Given the description of an element on the screen output the (x, y) to click on. 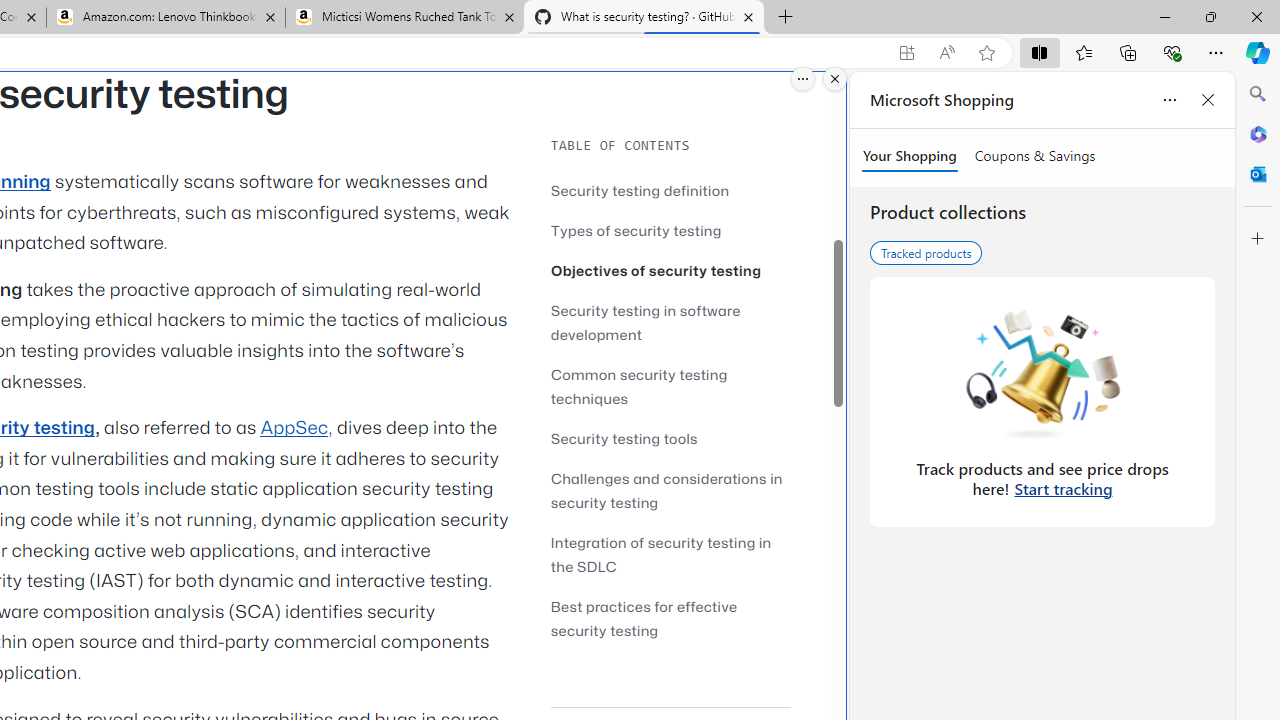
Common security testing techniques (639, 385)
Objectives of security testing (670, 269)
Security testing definition (639, 190)
Best practices for effective security testing (644, 618)
Common security testing techniques (670, 386)
Types of security testing (670, 230)
AppSec (293, 428)
